Given the description of an element on the screen output the (x, y) to click on. 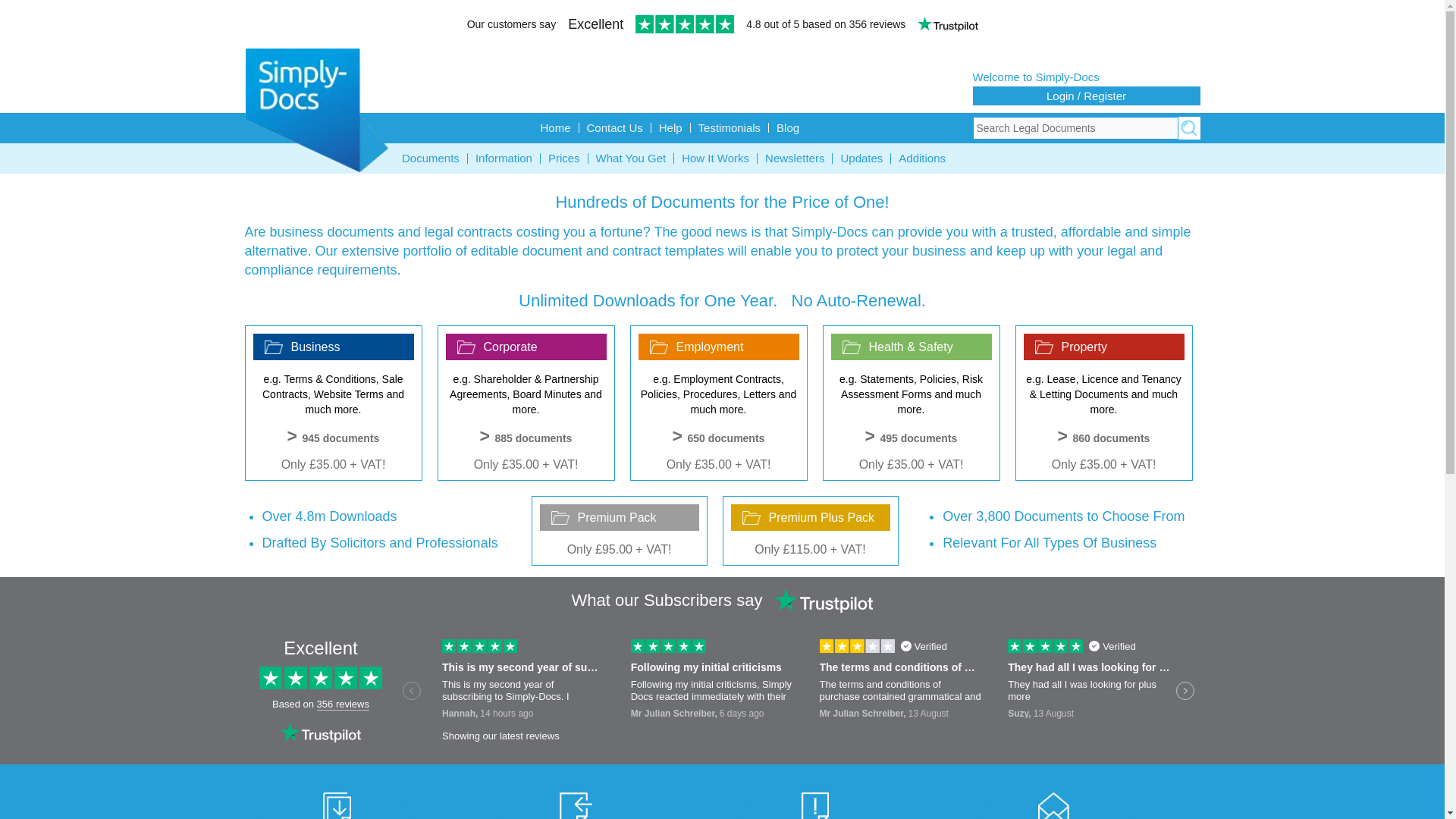
Home (555, 127)
Help (670, 127)
Documents (430, 158)
Contact Us (614, 127)
Customer reviews powered by Trustpilot (721, 695)
Customer reviews powered by Trustpilot (721, 25)
Testimonials (730, 127)
Blog (787, 127)
